Given the description of an element on the screen output the (x, y) to click on. 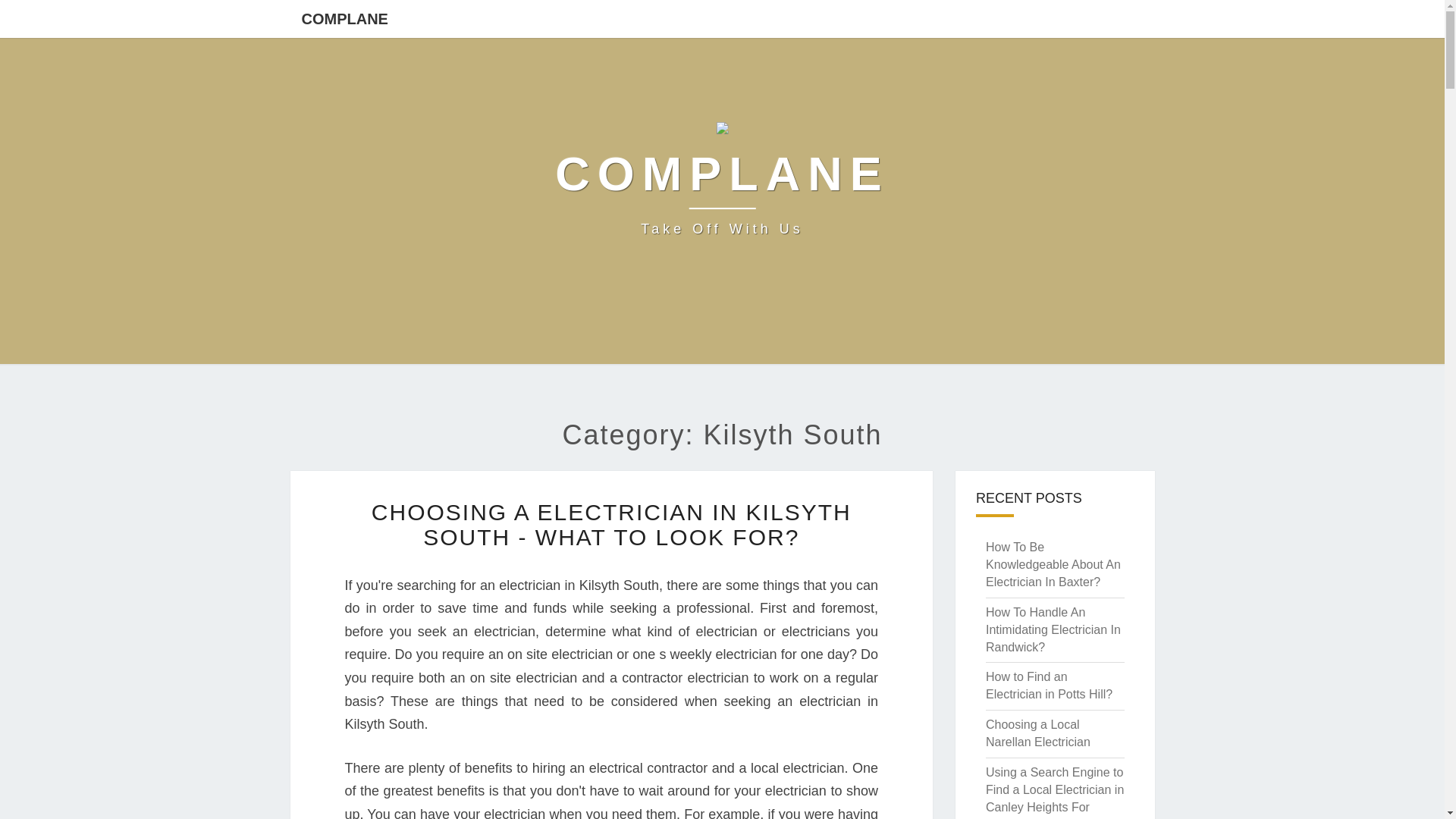
Choosing a Local Narellan Electrician (1037, 733)
Complane (721, 183)
COMPLANE (343, 18)
How To Handle An Intimidating Electrician In Randwick? (1053, 629)
How to Find an Electrician in Potts Hill? (1048, 685)
How To Be Knowledgeable About An Electrician In Baxter? (1053, 564)
CHOOSING A ELECTRICIAN IN KILSYTH SOUTH - WHAT TO LOOK FOR? (611, 524)
